Given the description of an element on the screen output the (x, y) to click on. 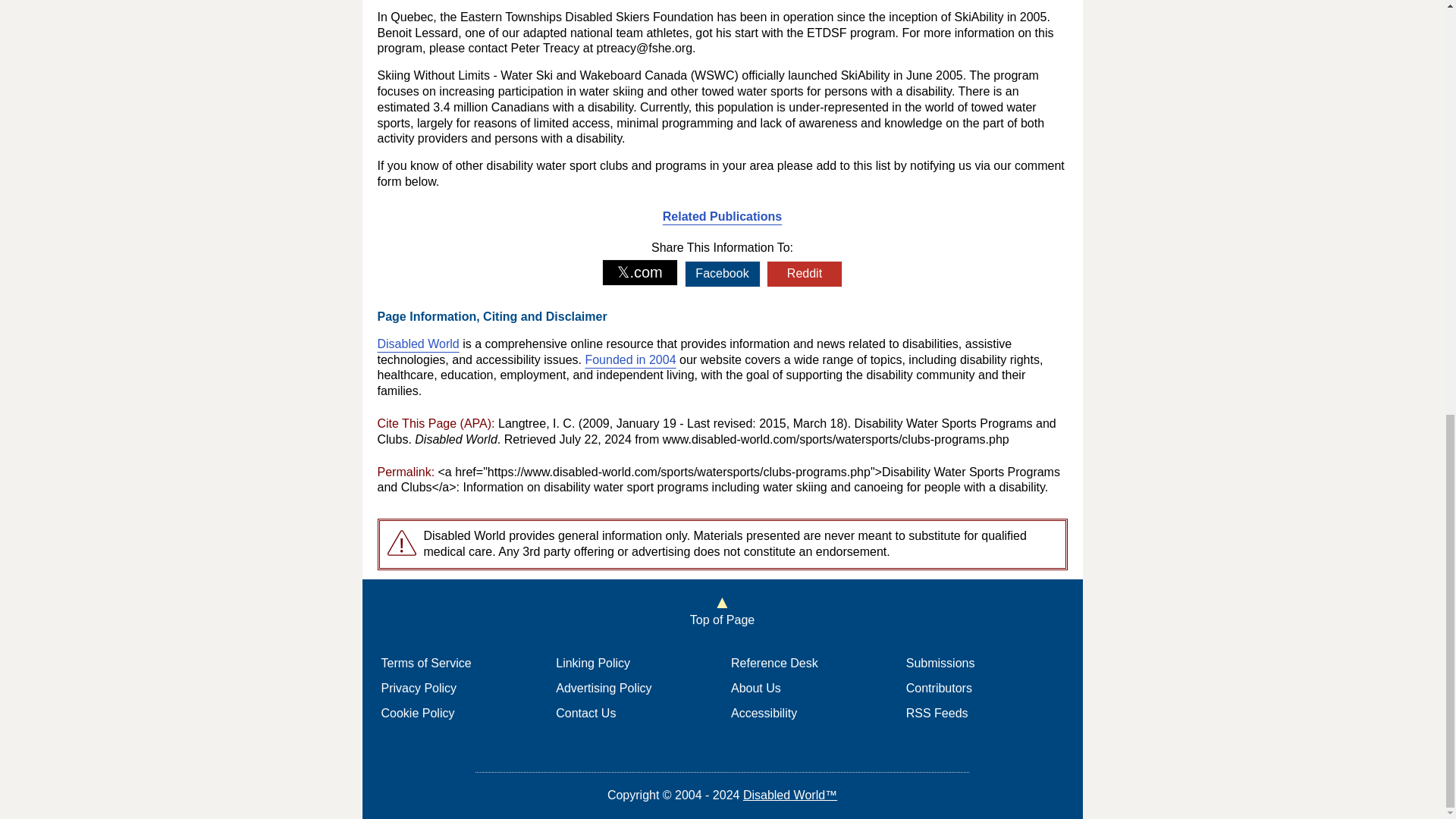
Contact Us (585, 712)
Advertising Policy (603, 687)
Privacy Policy (418, 687)
Disabled World (418, 343)
Cookie Policy (417, 712)
Share on X (640, 272)
Terms of Service (425, 662)
Founded in 2004 (630, 359)
Linking Policy (593, 662)
